Given the description of an element on the screen output the (x, y) to click on. 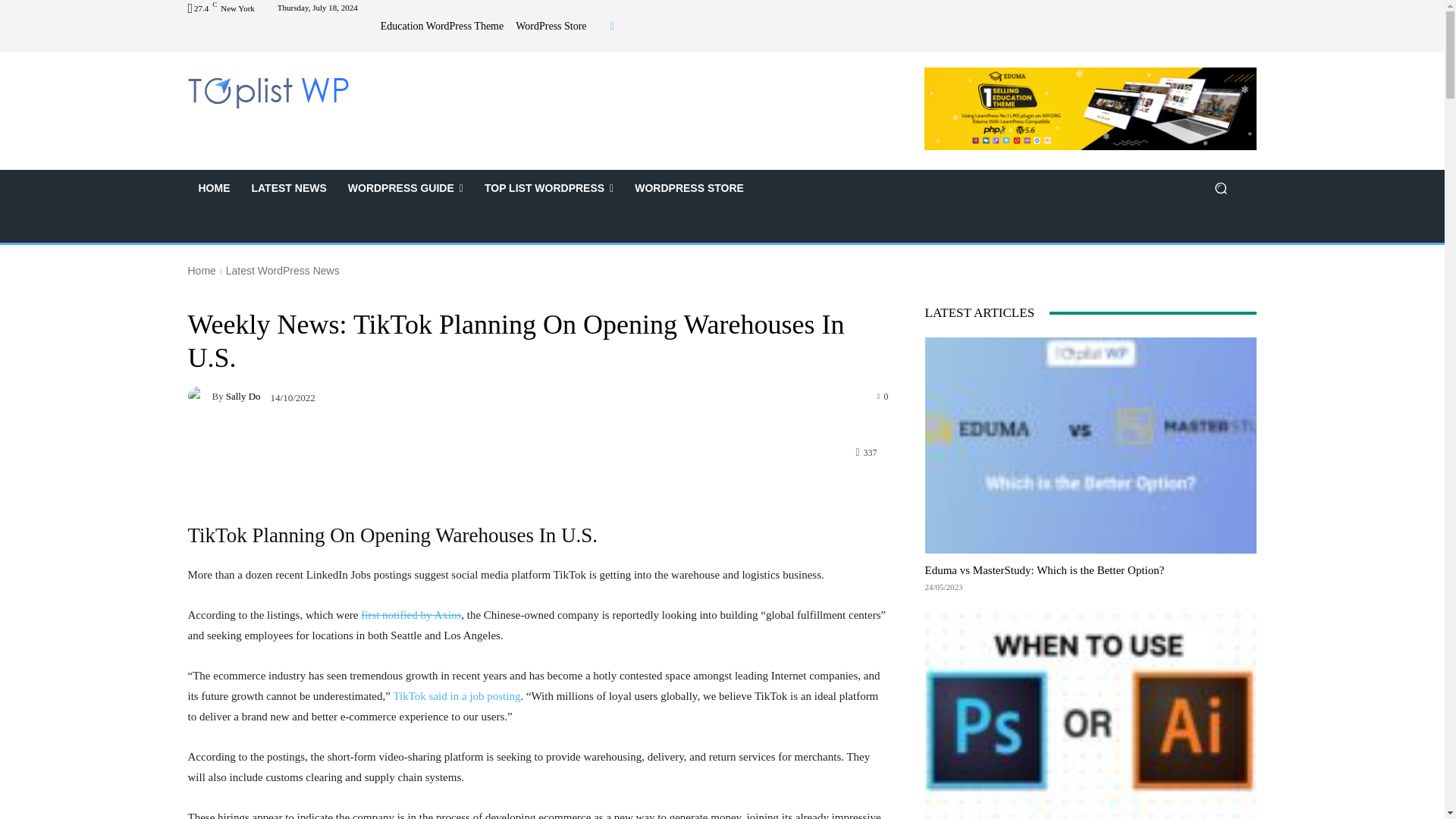
TikTok said in a job posting (456, 695)
WordPress Store (550, 26)
LATEST NEWS (289, 187)
Mail (612, 26)
HOME (214, 187)
WORDPRESS GUIDE (405, 187)
Latest WordPress News (282, 270)
first notified by Axios (411, 614)
Education WordPress Theme (441, 26)
Sally Do (199, 396)
TOP LIST WORDPRESS (549, 187)
WORDPRESS STORE (689, 187)
View all posts in Latest WordPress News (282, 270)
Sally Do (242, 396)
0 (882, 395)
